Given the description of an element on the screen output the (x, y) to click on. 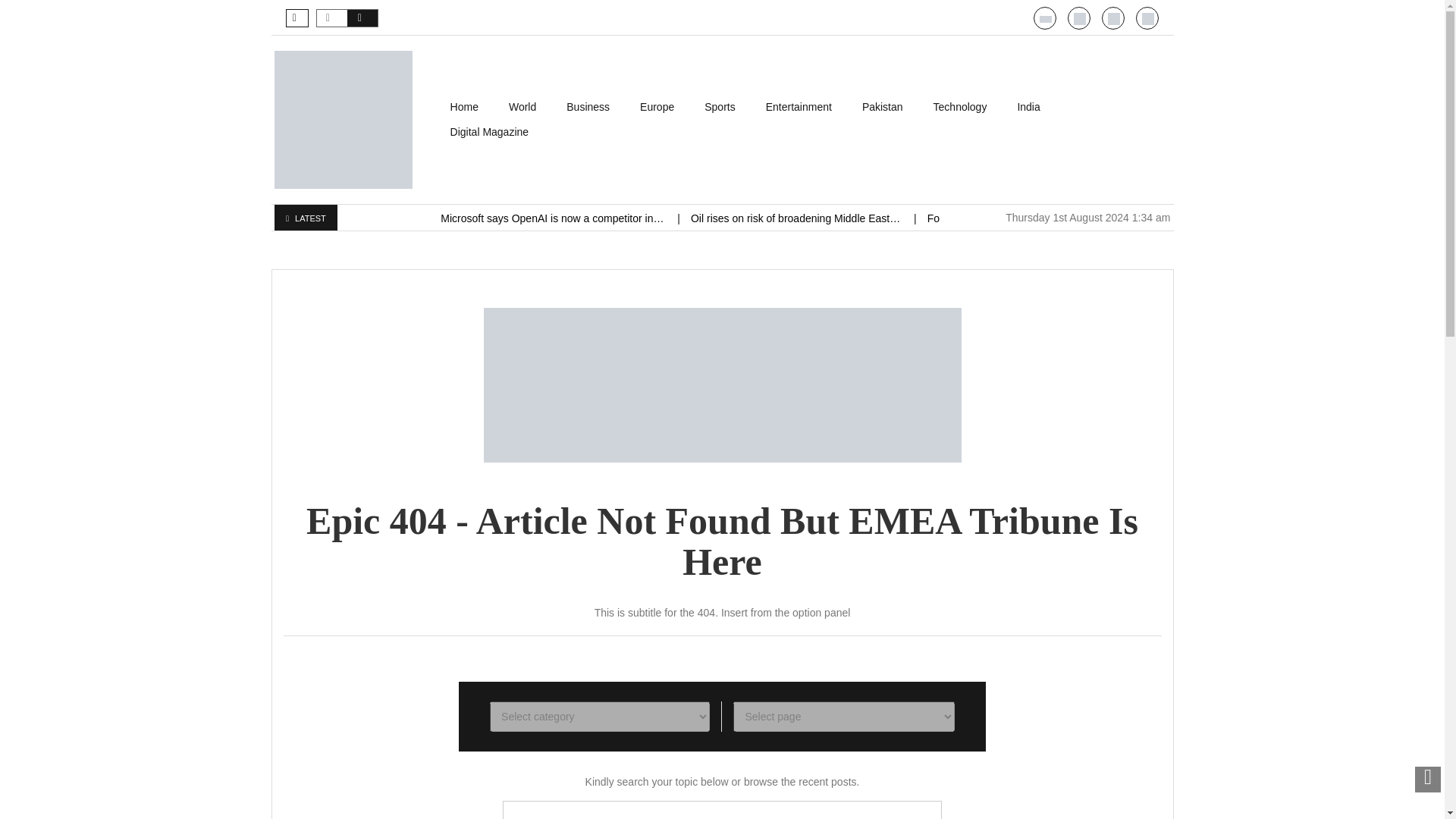
Skip to content (470, 102)
Sports (718, 107)
Pakistan (882, 107)
Europe (656, 107)
Business (587, 107)
Facebook (1147, 19)
Call Us (1080, 19)
Technology (960, 107)
Digital Magazine (489, 131)
India (1027, 107)
Entertainment (799, 107)
Home (464, 107)
Twitter (1113, 19)
Skip to content (470, 102)
World (522, 107)
